Given the description of an element on the screen output the (x, y) to click on. 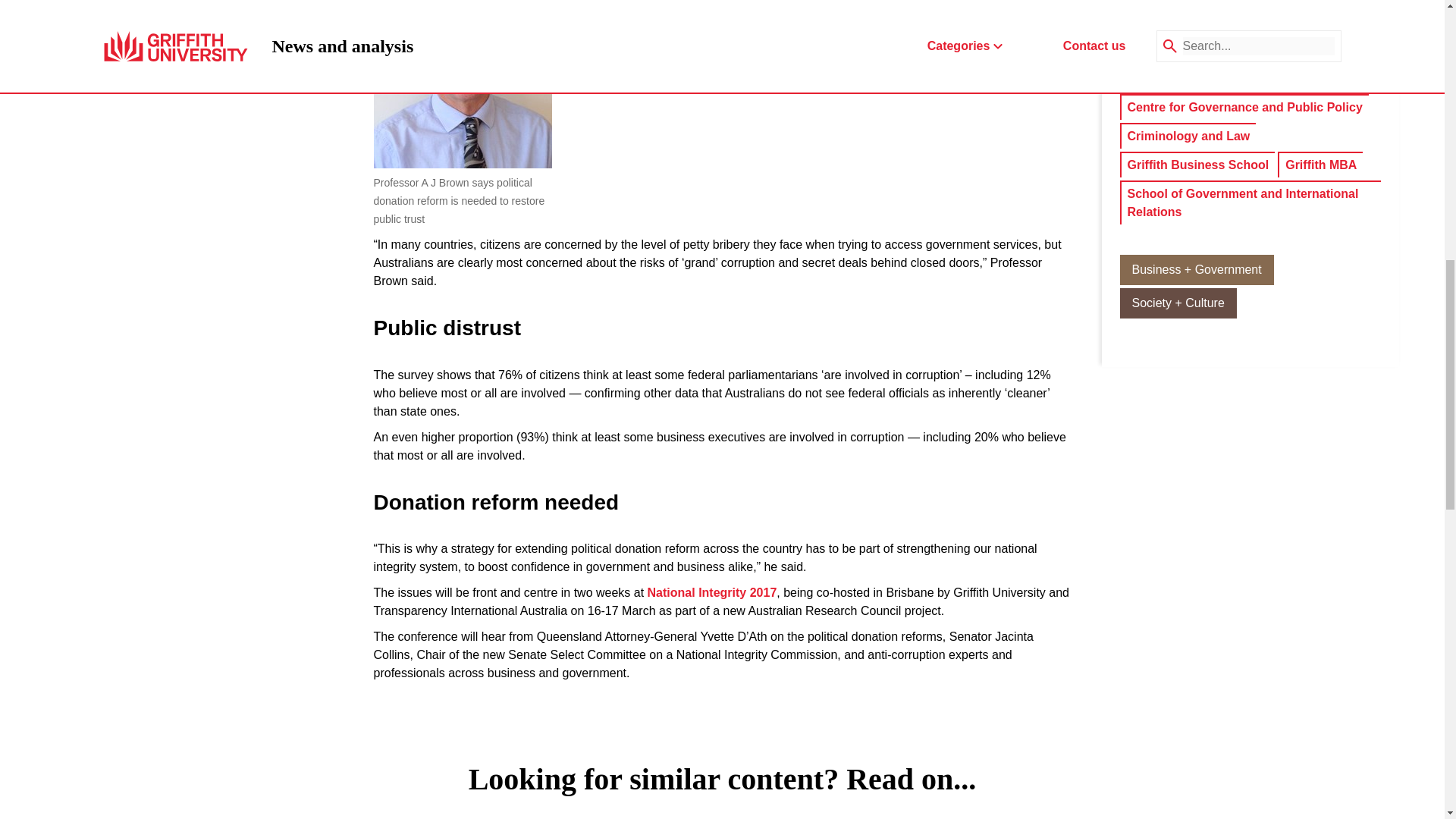
Criminology and Law (1187, 136)
Centre for Governance and Public Policy (1243, 107)
National Integrity 2017 (712, 592)
Griffith Business School (1197, 165)
More from Ben (1238, 21)
